Given the description of an element on the screen output the (x, y) to click on. 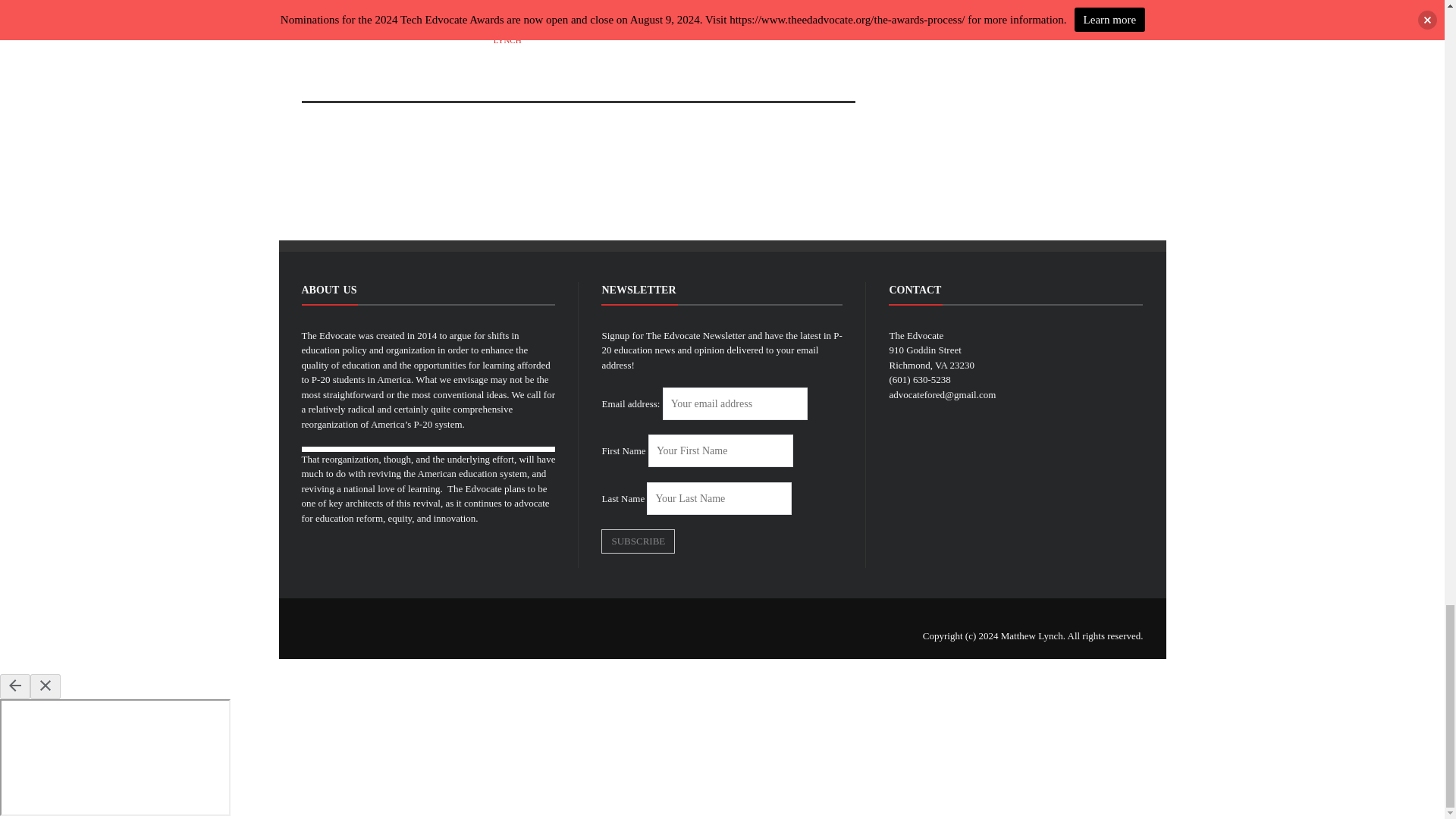
Subscribe (638, 541)
